Given the description of an element on the screen output the (x, y) to click on. 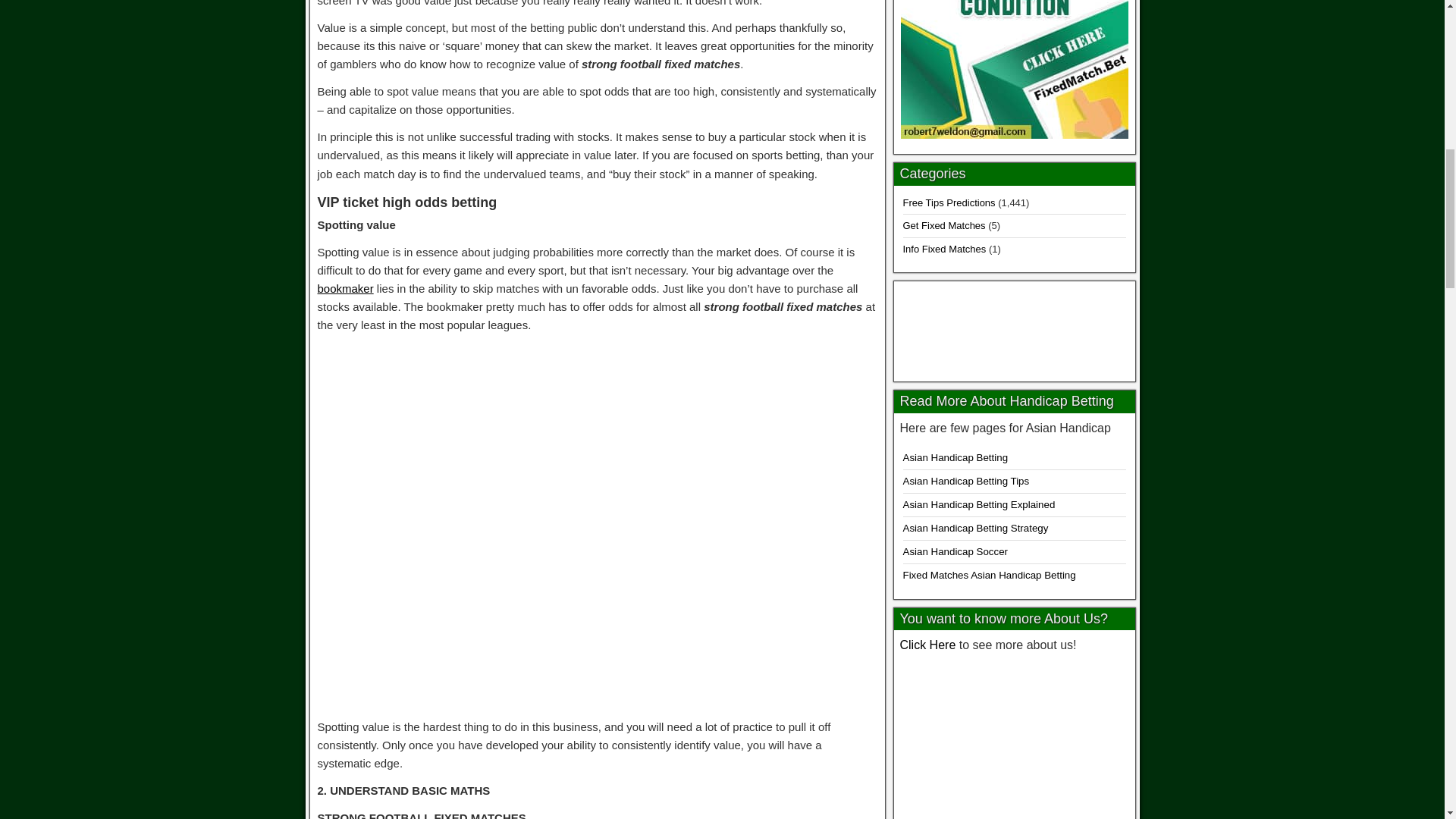
Free Tips Predictions (948, 202)
bookmaker (344, 287)
Get Fixed Matches (943, 225)
winning tips predictions sources (1013, 738)
Asian Handicap Betting (954, 457)
fixed matches 1x2 (1014, 328)
Info Fixed Matches (943, 248)
